Given the description of an element on the screen output the (x, y) to click on. 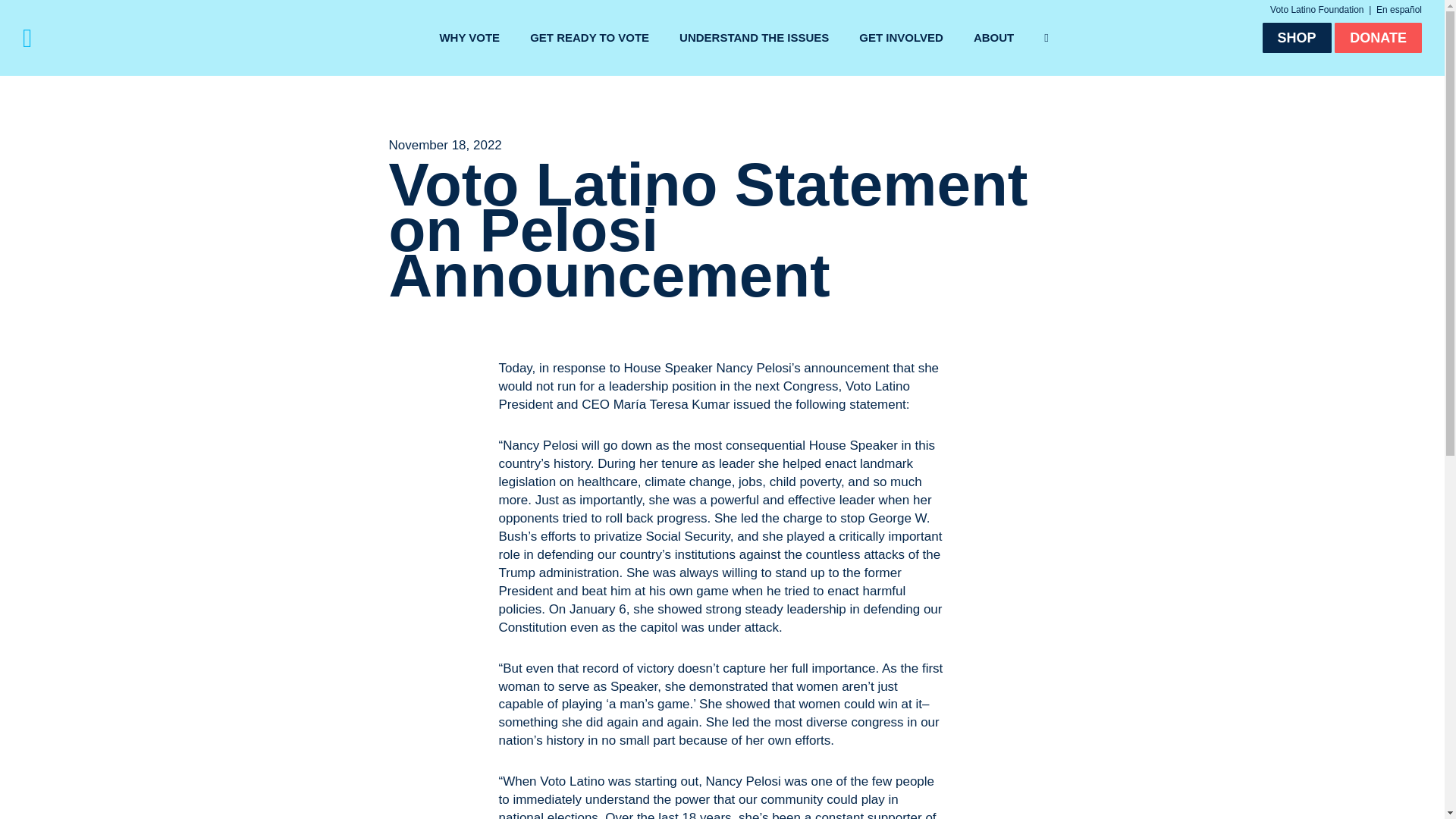
UNDERSTAND THE ISSUES (753, 38)
GET INVOLVED (901, 38)
Voto Latino Foundation (1315, 9)
ABOUT (993, 38)
GET READY TO VOTE (589, 38)
SHOP (1297, 37)
DONATE (1378, 37)
WHY VOTE (469, 38)
